Given the description of an element on the screen output the (x, y) to click on. 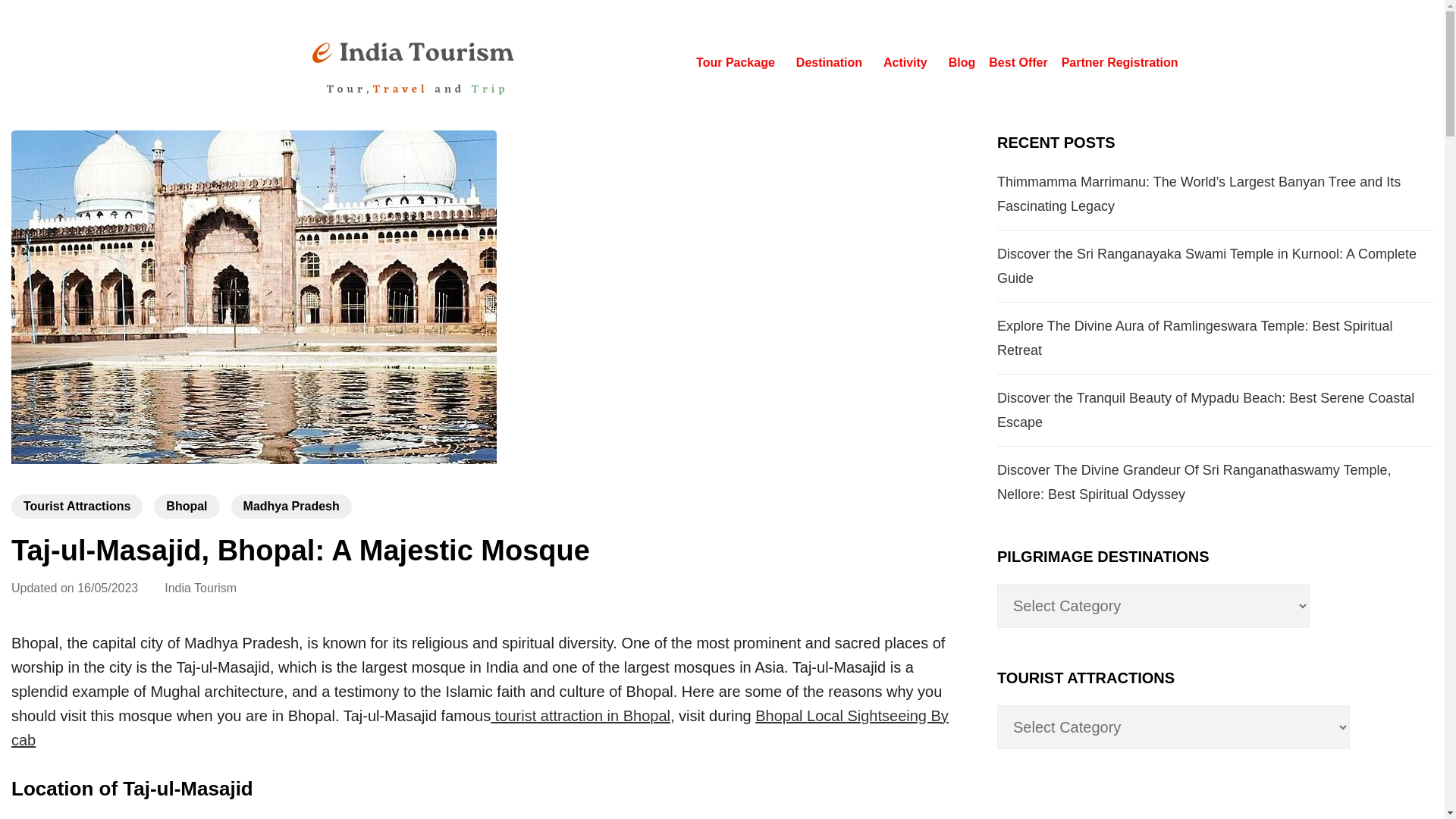
Tour Package (738, 62)
Destination (832, 62)
Activity (909, 62)
